Given the description of an element on the screen output the (x, y) to click on. 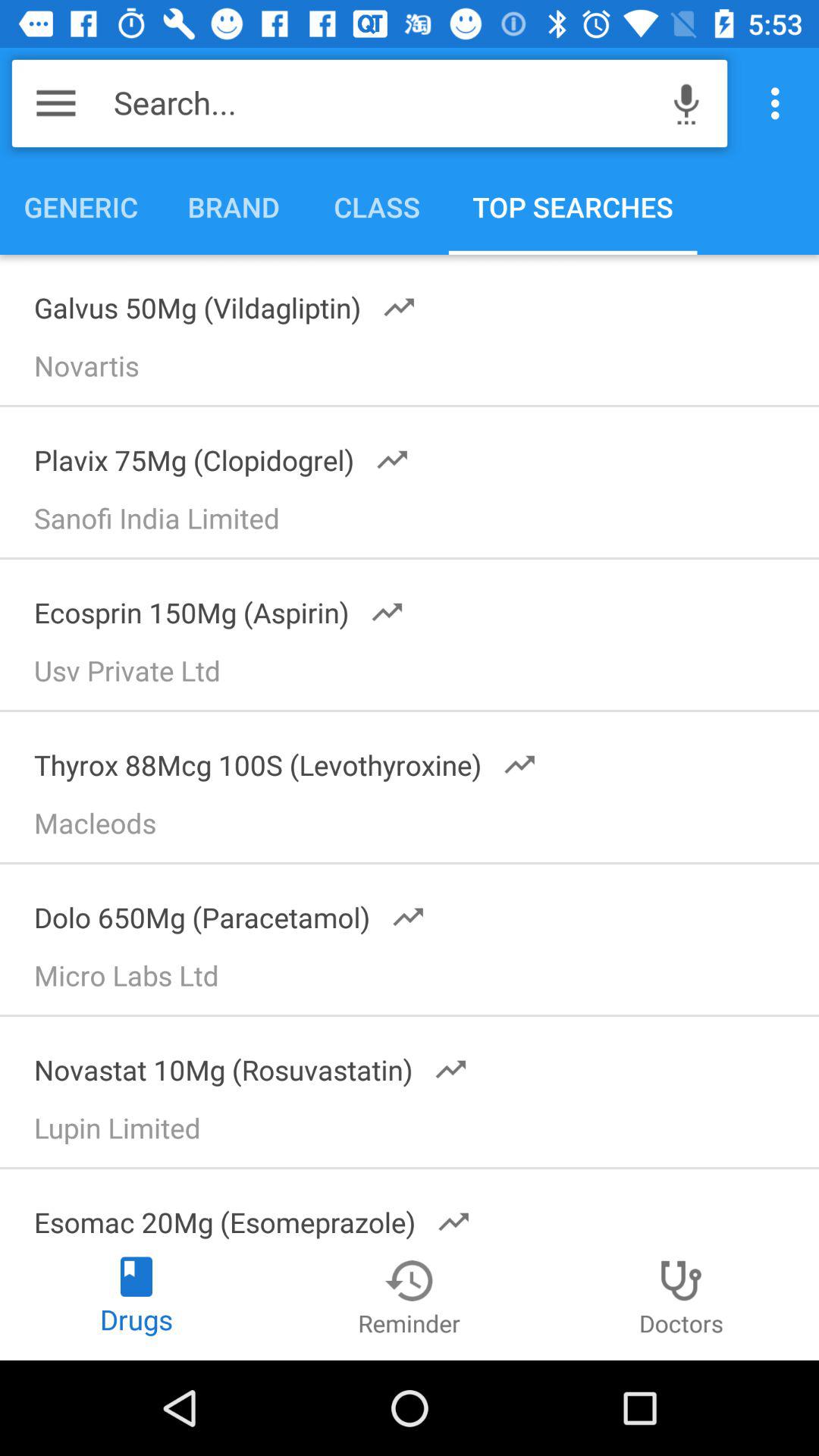
click the item next to search... (55, 103)
